Given the description of an element on the screen output the (x, y) to click on. 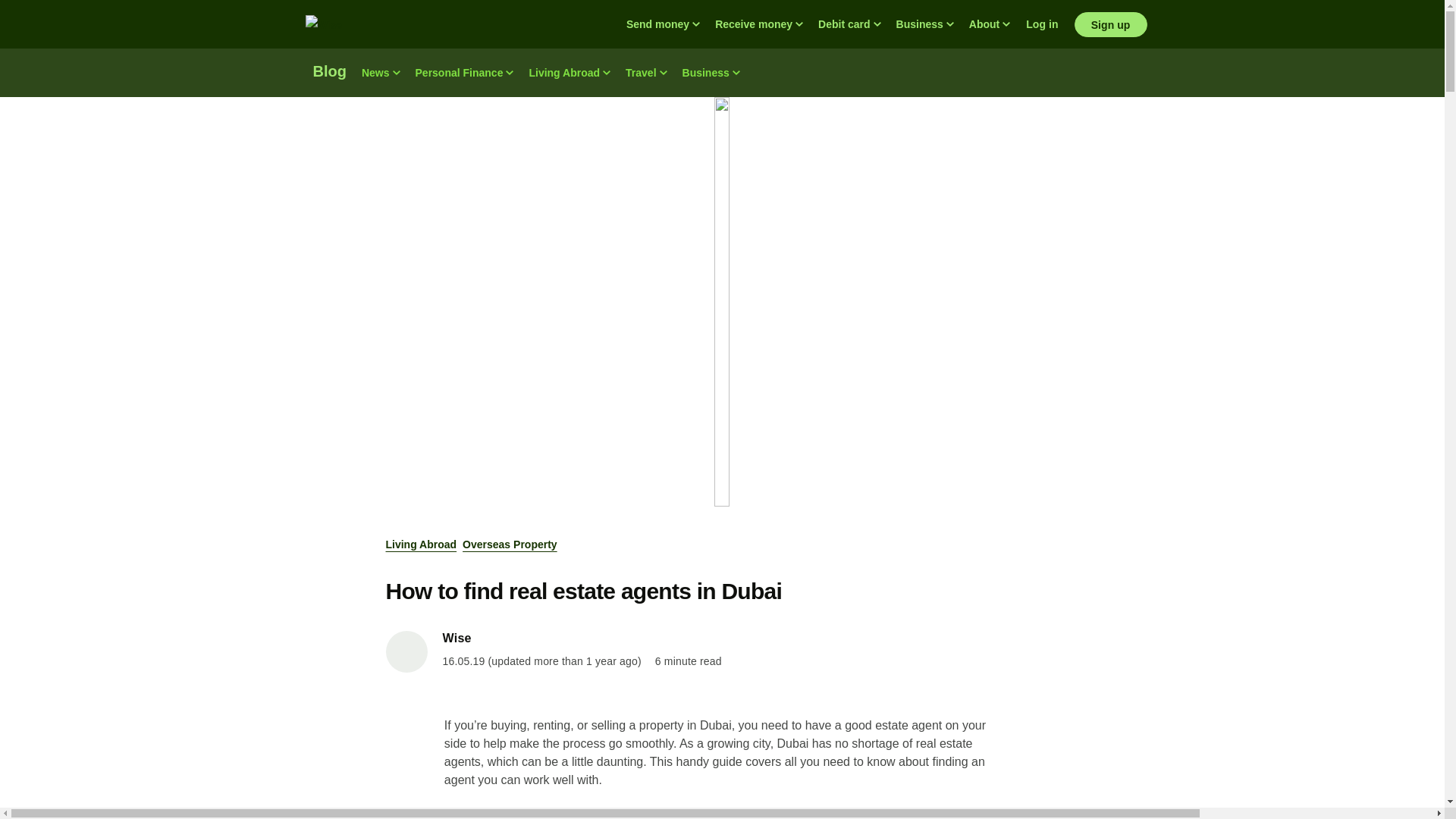
Personal Finance (464, 72)
Living Abroad (569, 72)
News (380, 72)
Blog (328, 72)
Travel (645, 72)
